Given the description of an element on the screen output the (x, y) to click on. 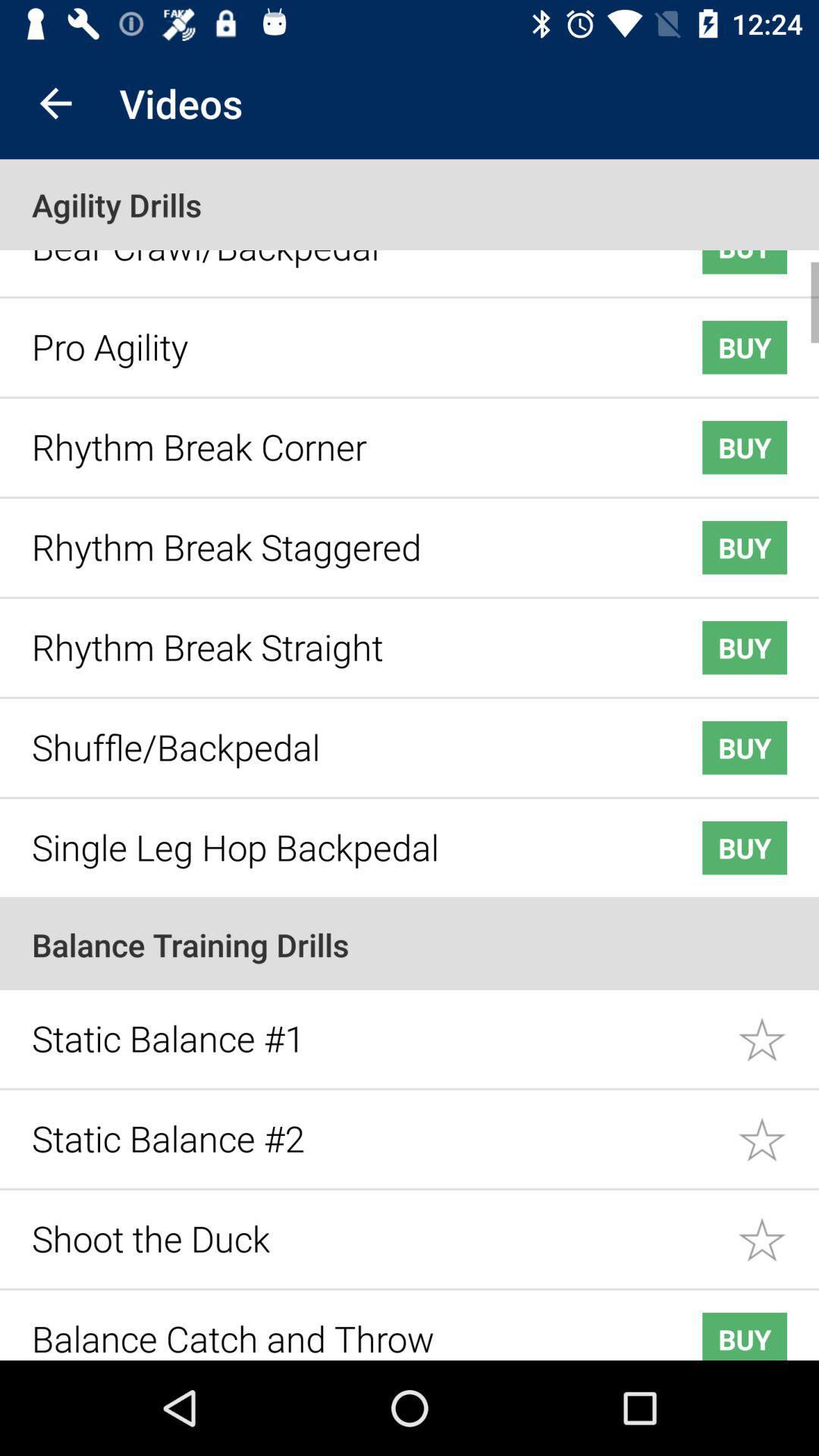
favorite option (778, 1228)
